Given the description of an element on the screen output the (x, y) to click on. 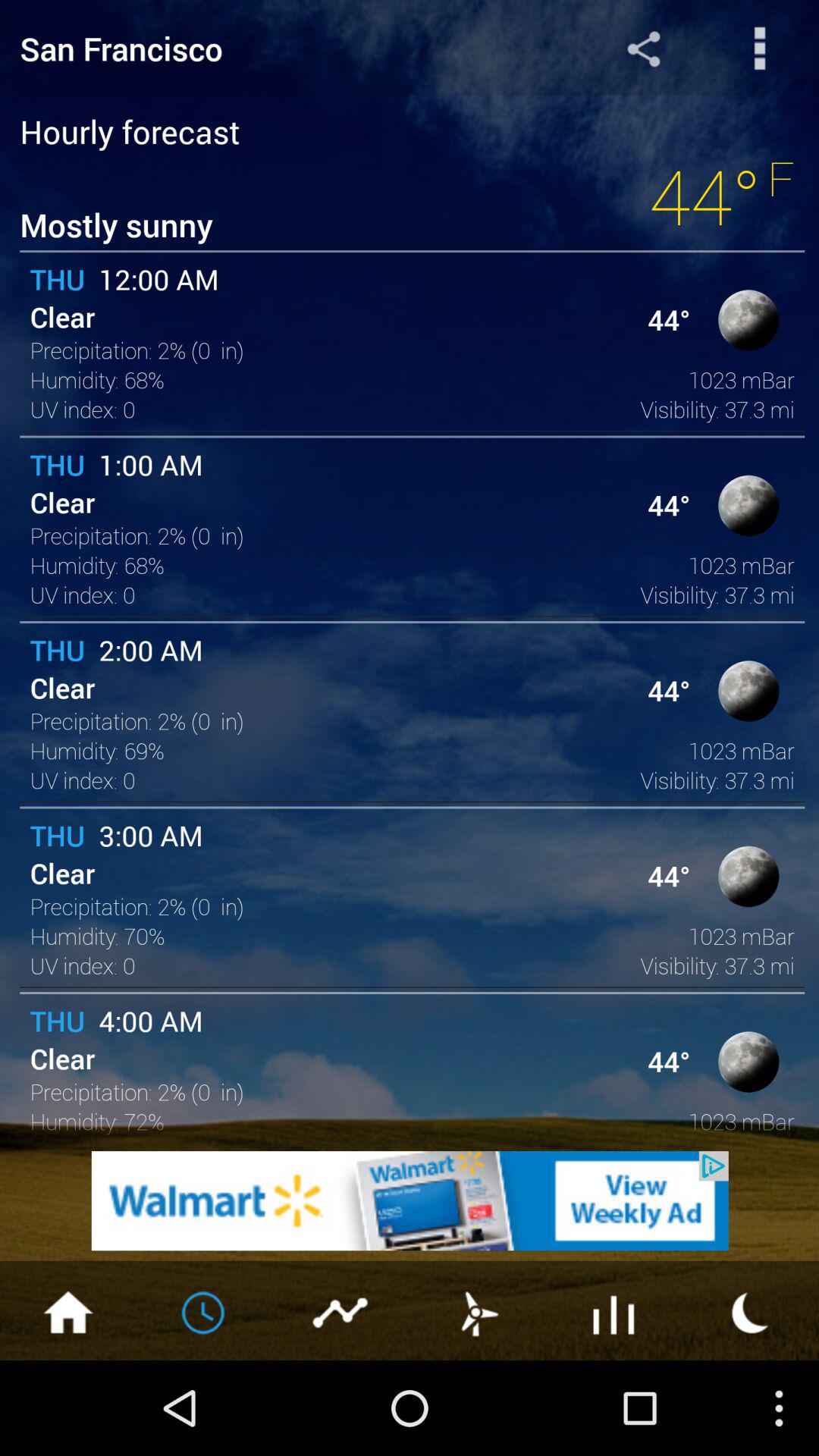
click on san francisco (272, 47)
